Given the description of an element on the screen output the (x, y) to click on. 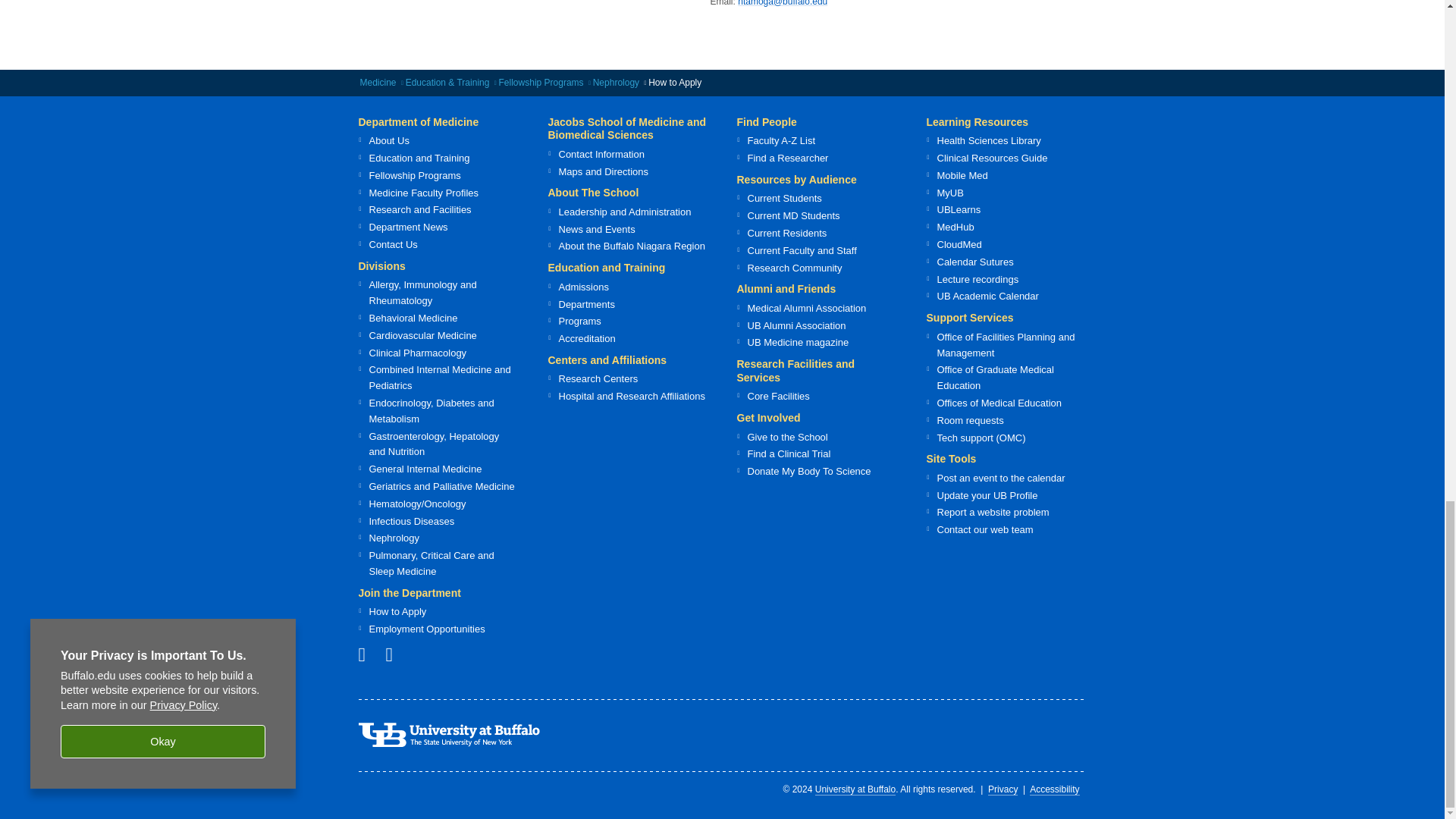
Linkedin page (394, 654)
Facebook group (367, 654)
